Given the description of an element on the screen output the (x, y) to click on. 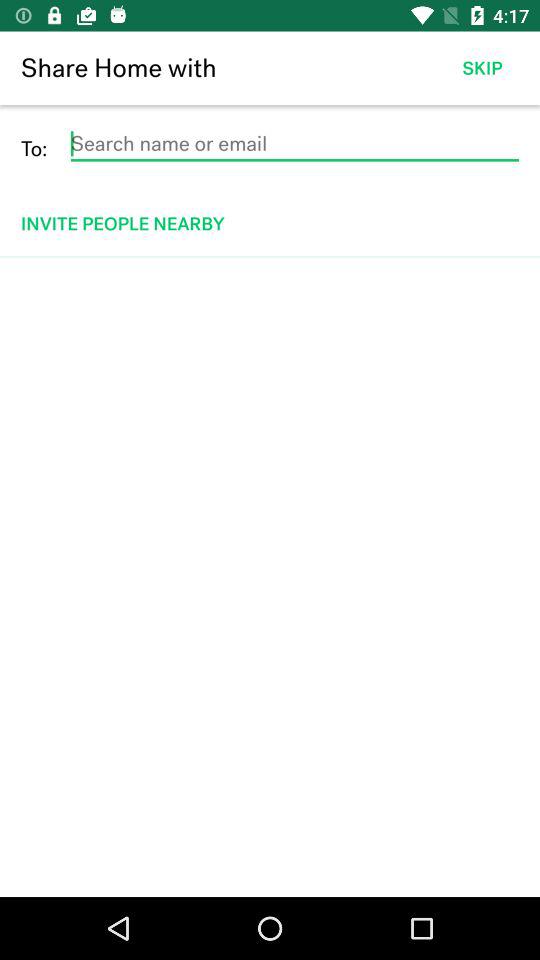
select the icon next to share home with item (482, 68)
